Given the description of an element on the screen output the (x, y) to click on. 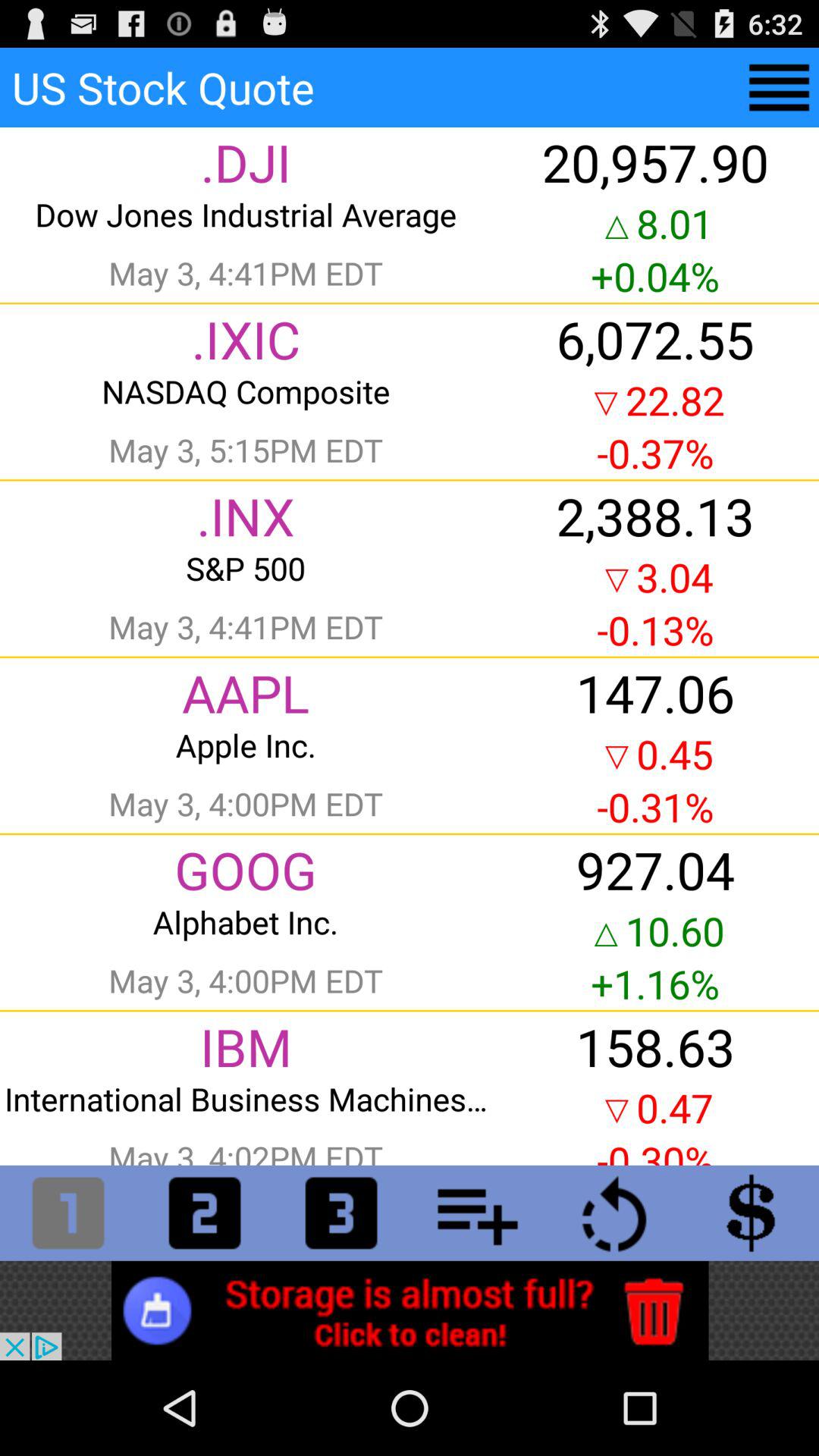
select the second tab (204, 1212)
